Given the description of an element on the screen output the (x, y) to click on. 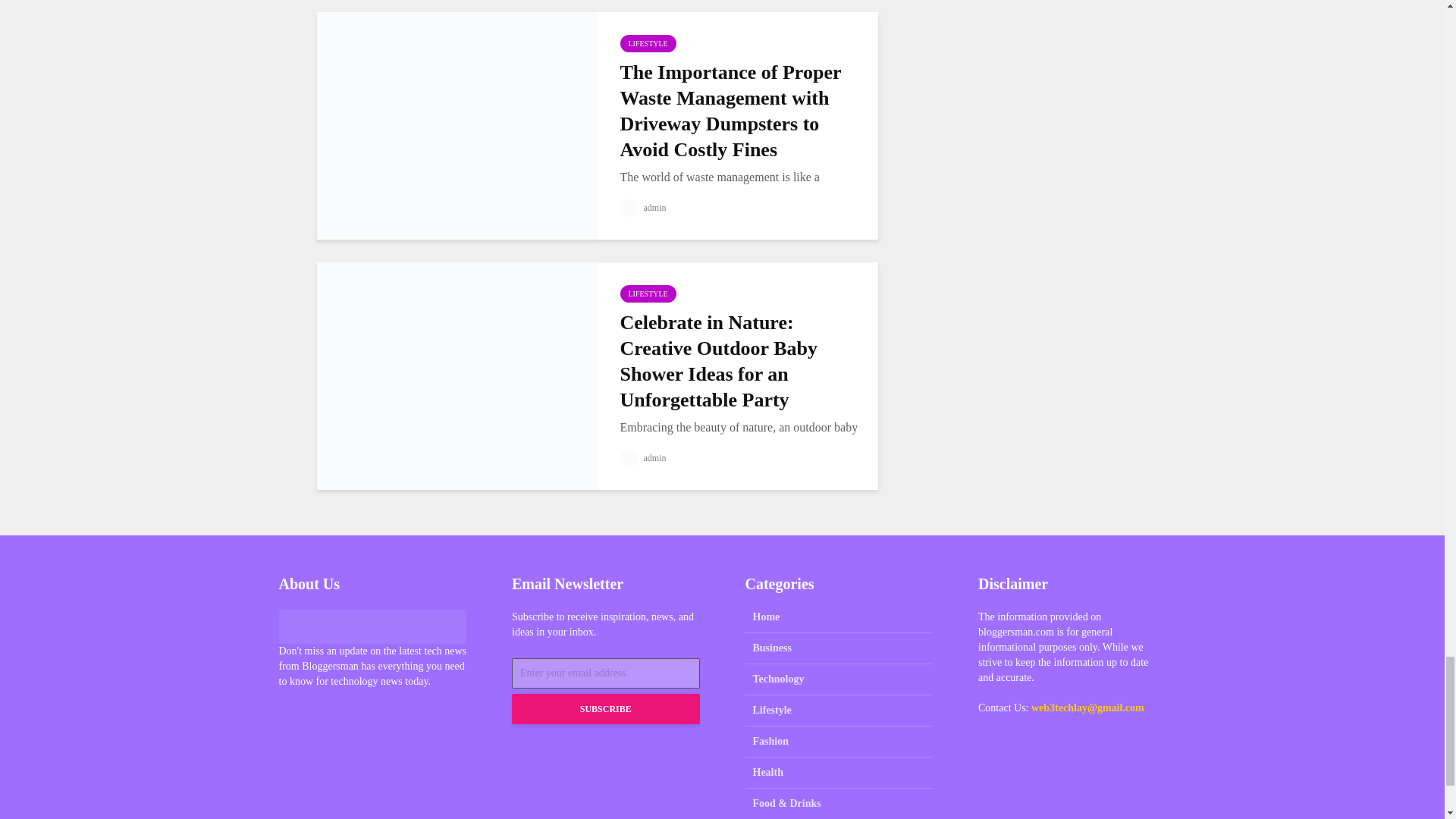
Subscribe (606, 708)
LIFESTYLE (648, 43)
Subscribe (606, 708)
